Given the description of an element on the screen output the (x, y) to click on. 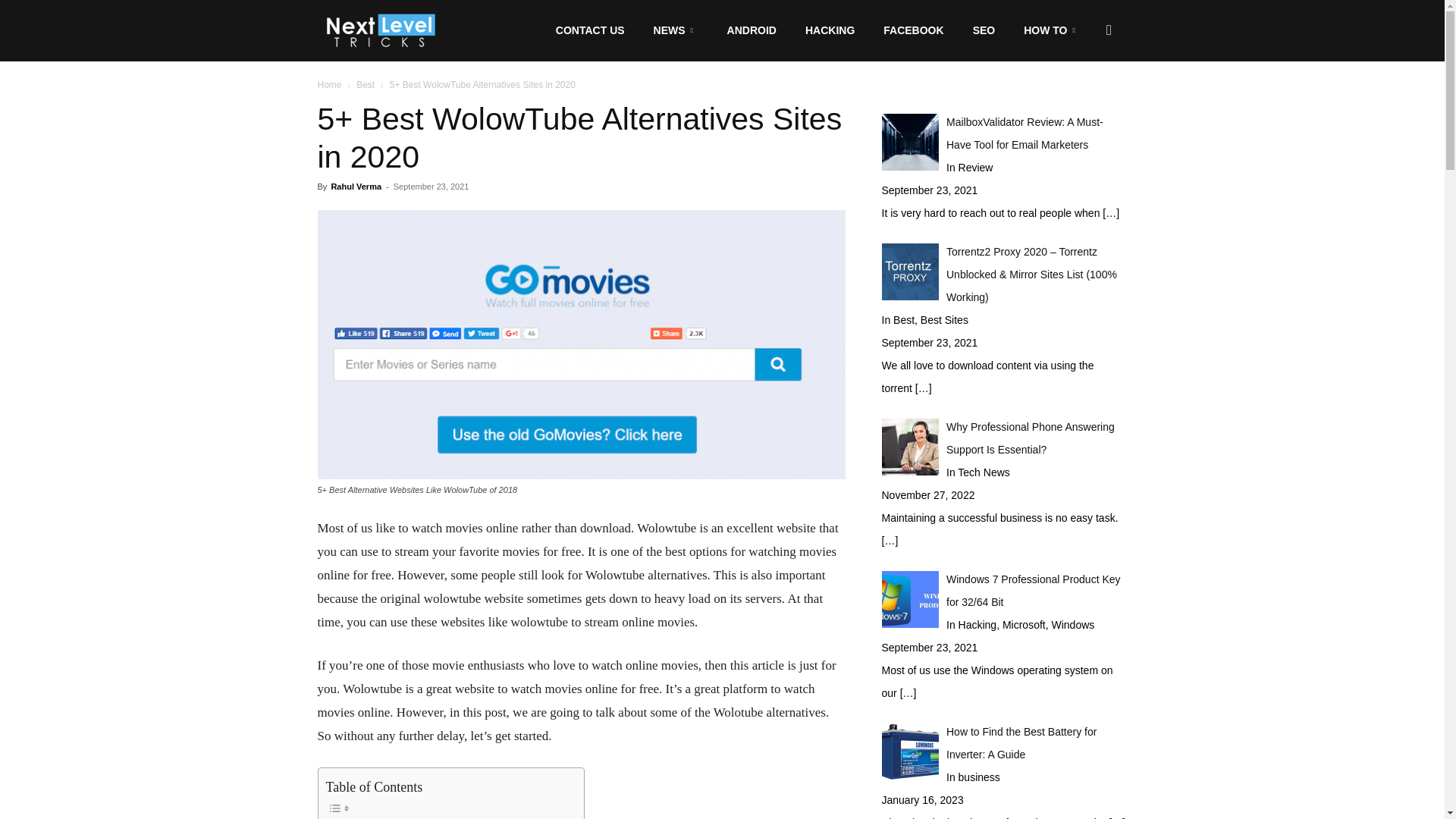
View all posts in Best (365, 84)
SEO (980, 30)
FACEBOOK (908, 30)
Search (1085, 102)
Home (328, 84)
HACKING (825, 30)
HOW TO (1048, 30)
CONTACT US (589, 30)
NEWS (671, 30)
Next Level Tricks (379, 30)
ANDROID (748, 30)
